Given the description of an element on the screen output the (x, y) to click on. 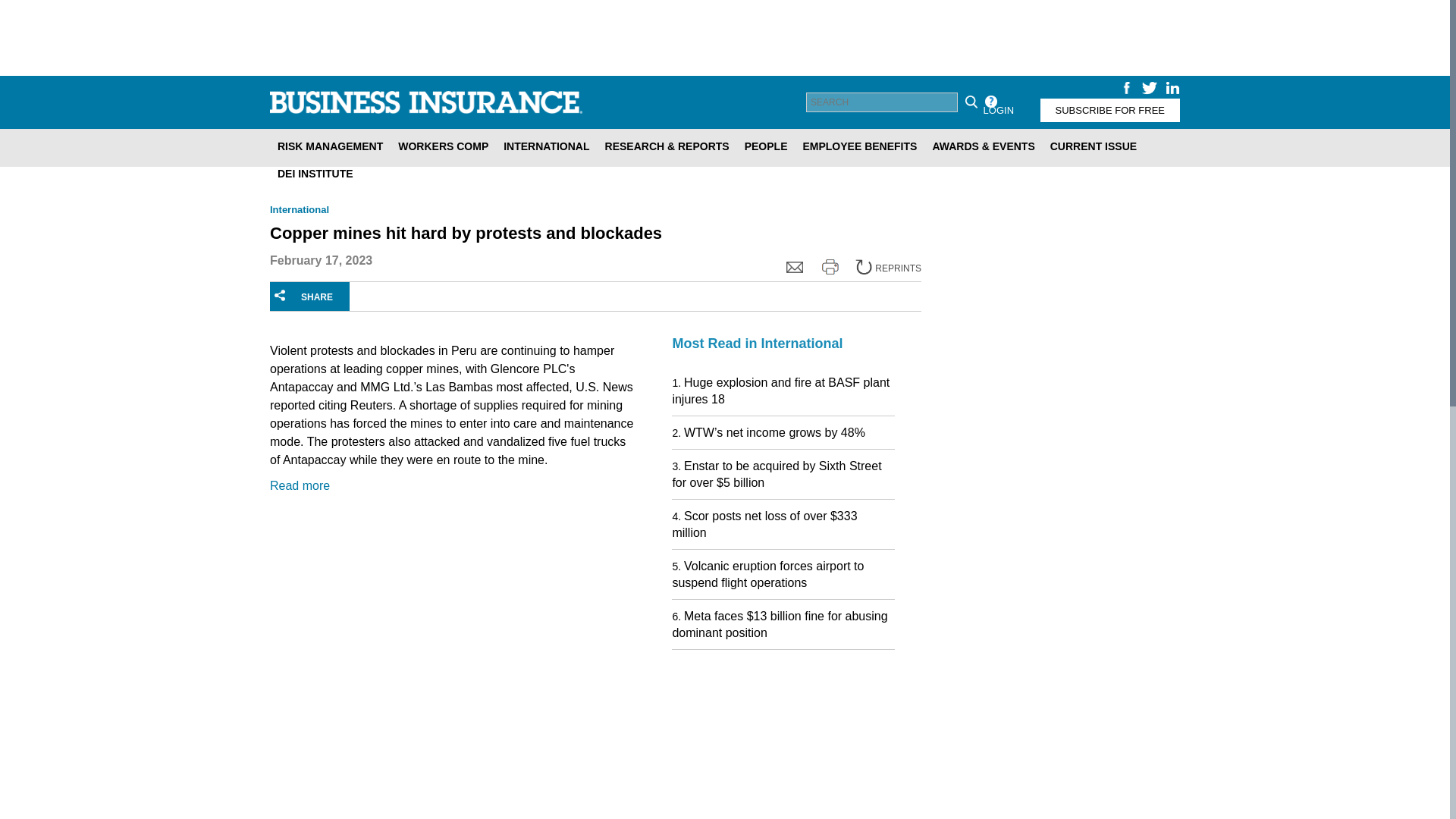
SUBSCRIBE FOR FREE (1110, 110)
RISK MANAGEMENT (329, 145)
Help (990, 101)
WORKERS COMP (443, 145)
PEOPLE (765, 145)
LOGIN (998, 110)
INTERNATIONAL (546, 145)
